Given the description of an element on the screen output the (x, y) to click on. 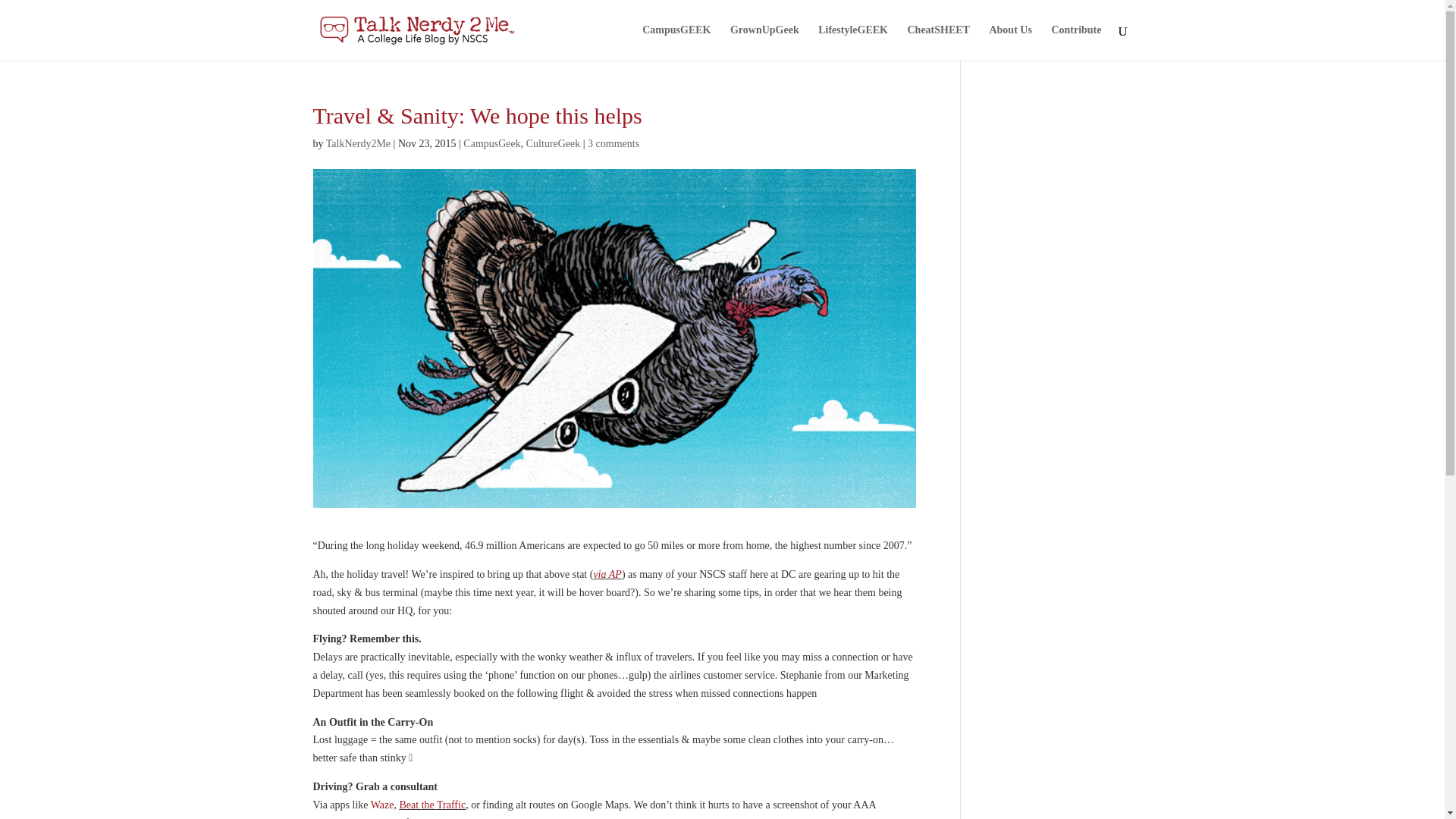
via AP (606, 573)
TalkNerdy2Me (358, 143)
GrownUpGeek (764, 42)
Posts by TalkNerdy2Me (358, 143)
LifestyleGEEK (853, 42)
Waze (382, 804)
CheatSHEET (938, 42)
3 comments (613, 143)
Contribute (1075, 42)
CampusGEEK (676, 42)
